Given the description of an element on the screen output the (x, y) to click on. 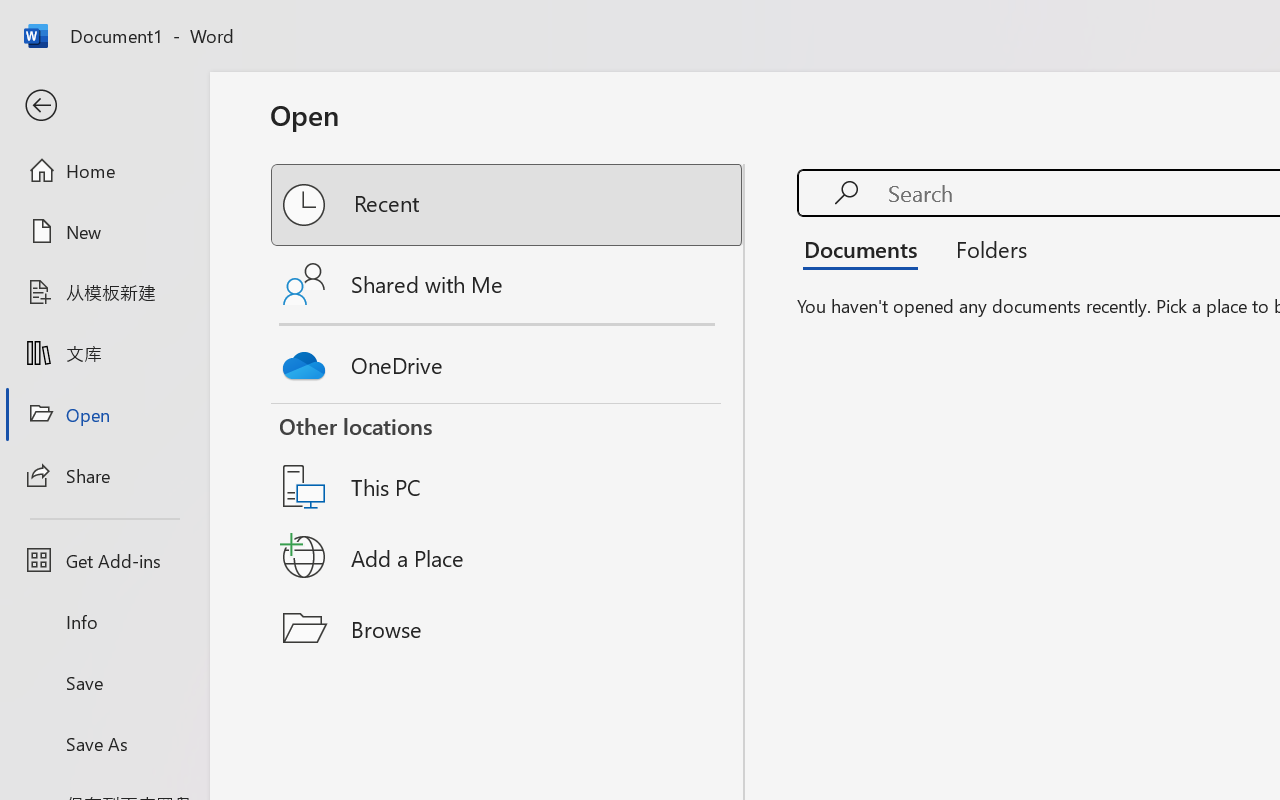
Add a Place (507, 557)
Back (104, 106)
Recent (507, 205)
Save As (104, 743)
New (104, 231)
Shared with Me (507, 283)
Info (104, 621)
Documents (866, 248)
